Given the description of an element on the screen output the (x, y) to click on. 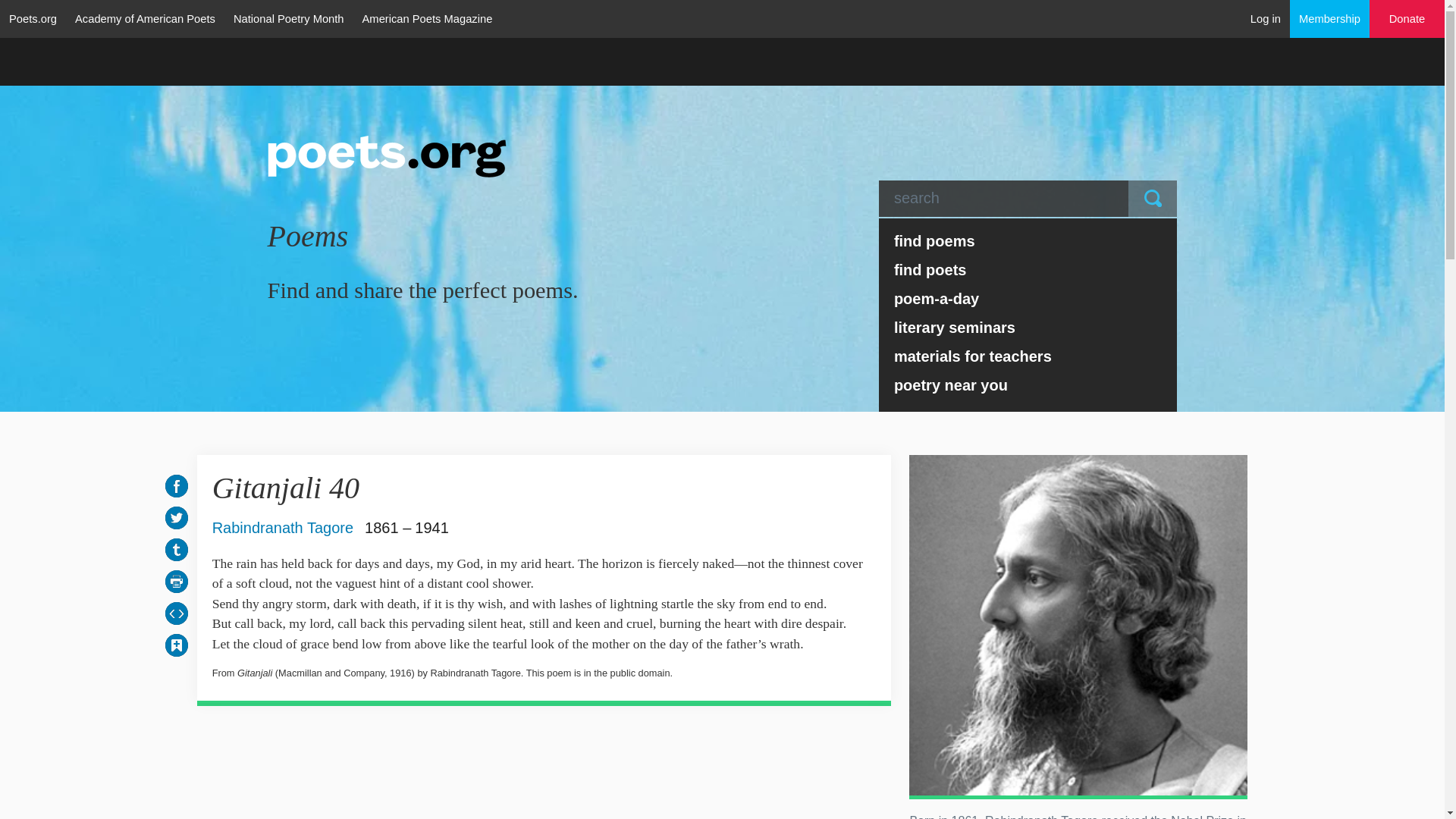
Become a member of the Academy of American Poets (1330, 18)
American Poets Magazine (427, 18)
Support the mission of the Academy of American Poets (1407, 18)
materials for teachers (1028, 356)
poem-a-day (1028, 298)
Submit (1152, 198)
literary seminars (1028, 327)
Poets.org (32, 18)
materials for teachers (1028, 356)
Academy of American Poets (144, 18)
Membership (1330, 18)
poetry near you (1028, 385)
literary seminars (1028, 327)
poetry near you (1028, 385)
National Poetry Month (288, 18)
